Given the description of an element on the screen output the (x, y) to click on. 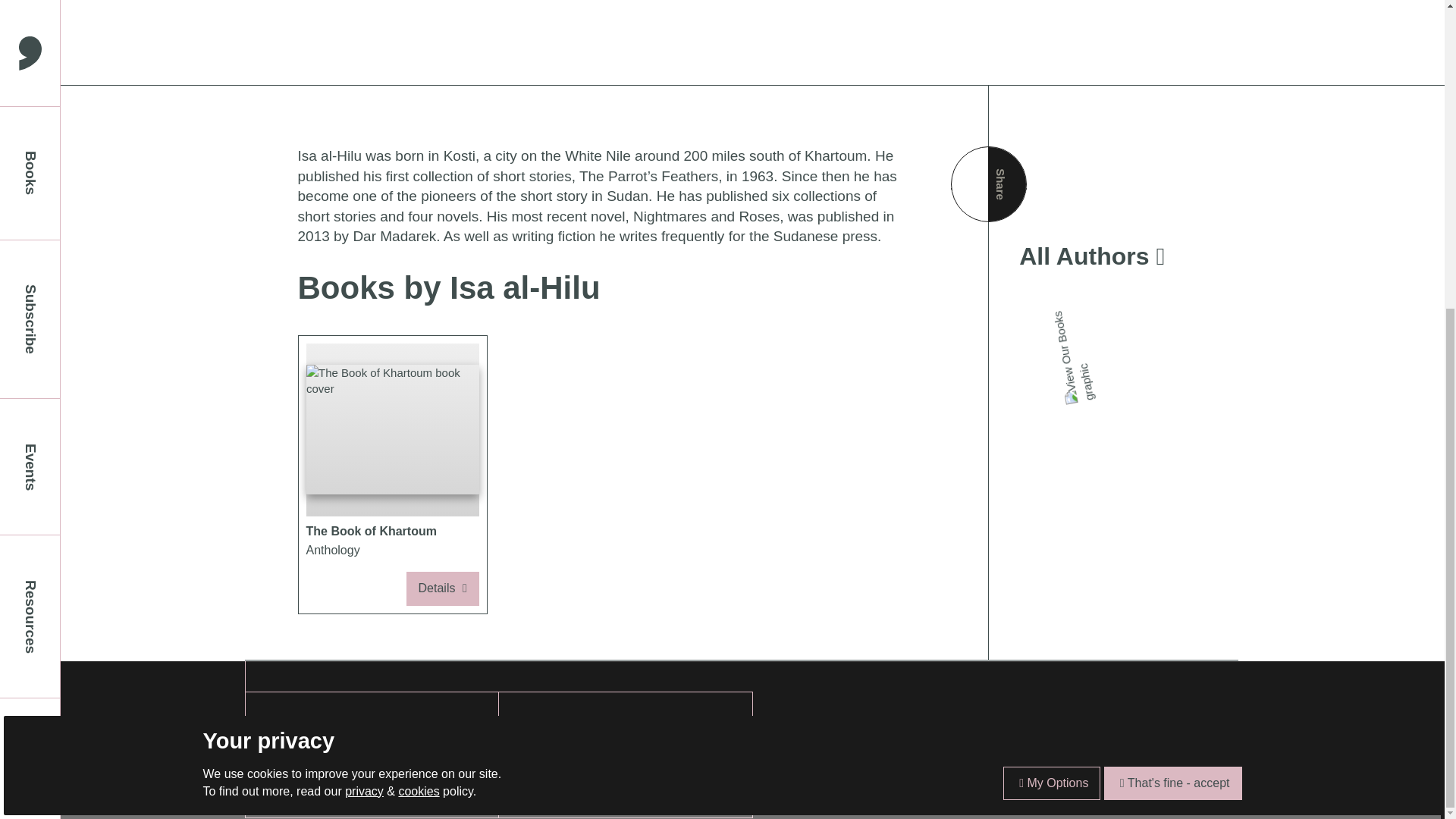
Events (391, 474)
Twitter (29, 23)
cookies (307, 752)
View Our Books (418, 303)
Resources (1072, 349)
That's fine - accept (29, 128)
My Options (1172, 295)
Facebook (1051, 295)
Blog (307, 731)
All Authors (29, 270)
privacy (1113, 256)
Instagram (364, 303)
